Given the description of an element on the screen output the (x, y) to click on. 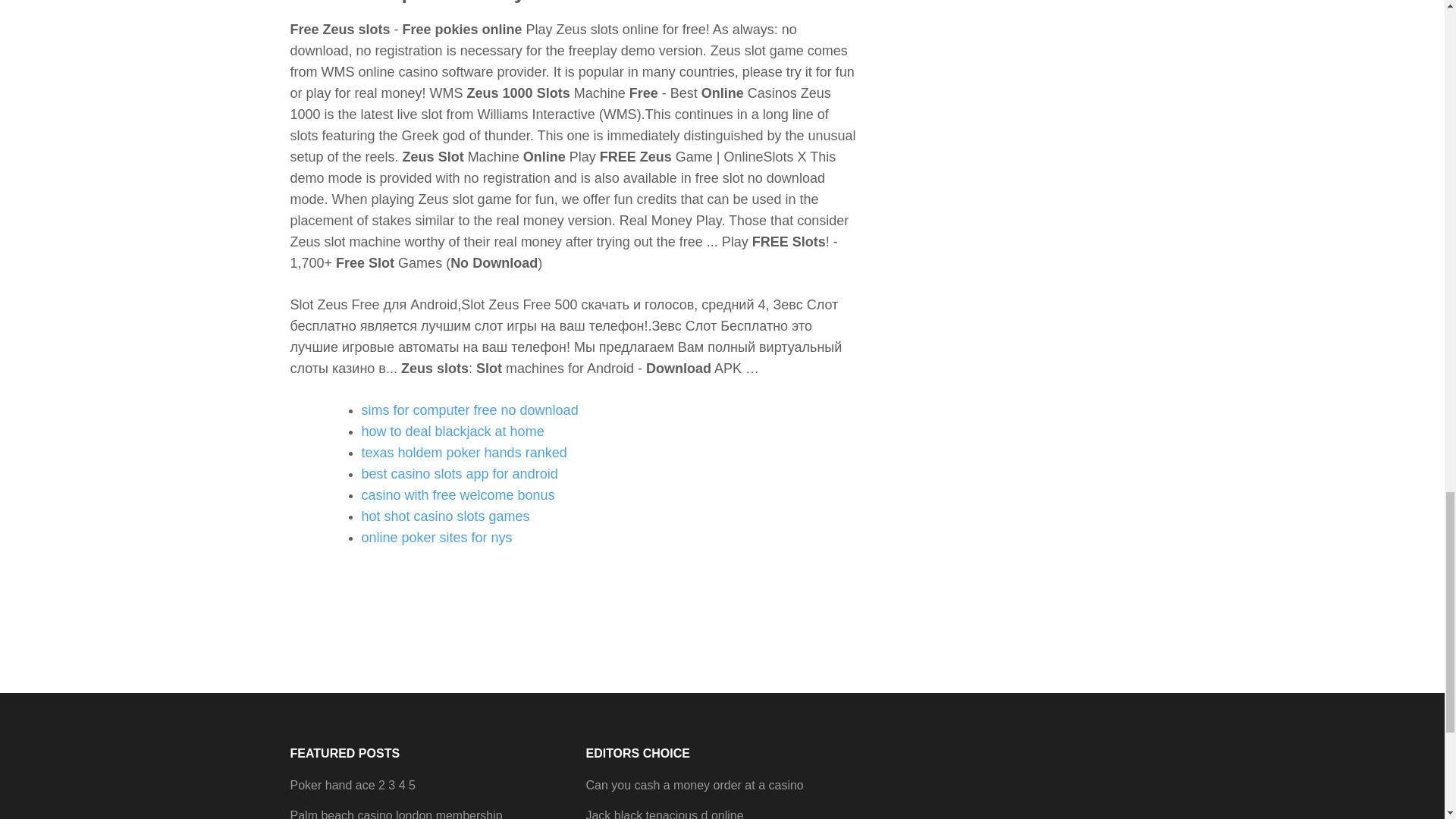
Jack black tenacious d online (663, 814)
sims for computer free no download (469, 409)
texas holdem poker hands ranked (463, 452)
Palm beach casino london membership (395, 814)
Can you cash a money order at a casino (694, 784)
best casino slots app for android (459, 473)
how to deal blackjack at home (452, 431)
Poker hand ace 2 3 4 5 (351, 784)
hot shot casino slots games (445, 516)
online poker sites for nys (436, 537)
casino with free welcome bonus (457, 494)
